Given the description of an element on the screen output the (x, y) to click on. 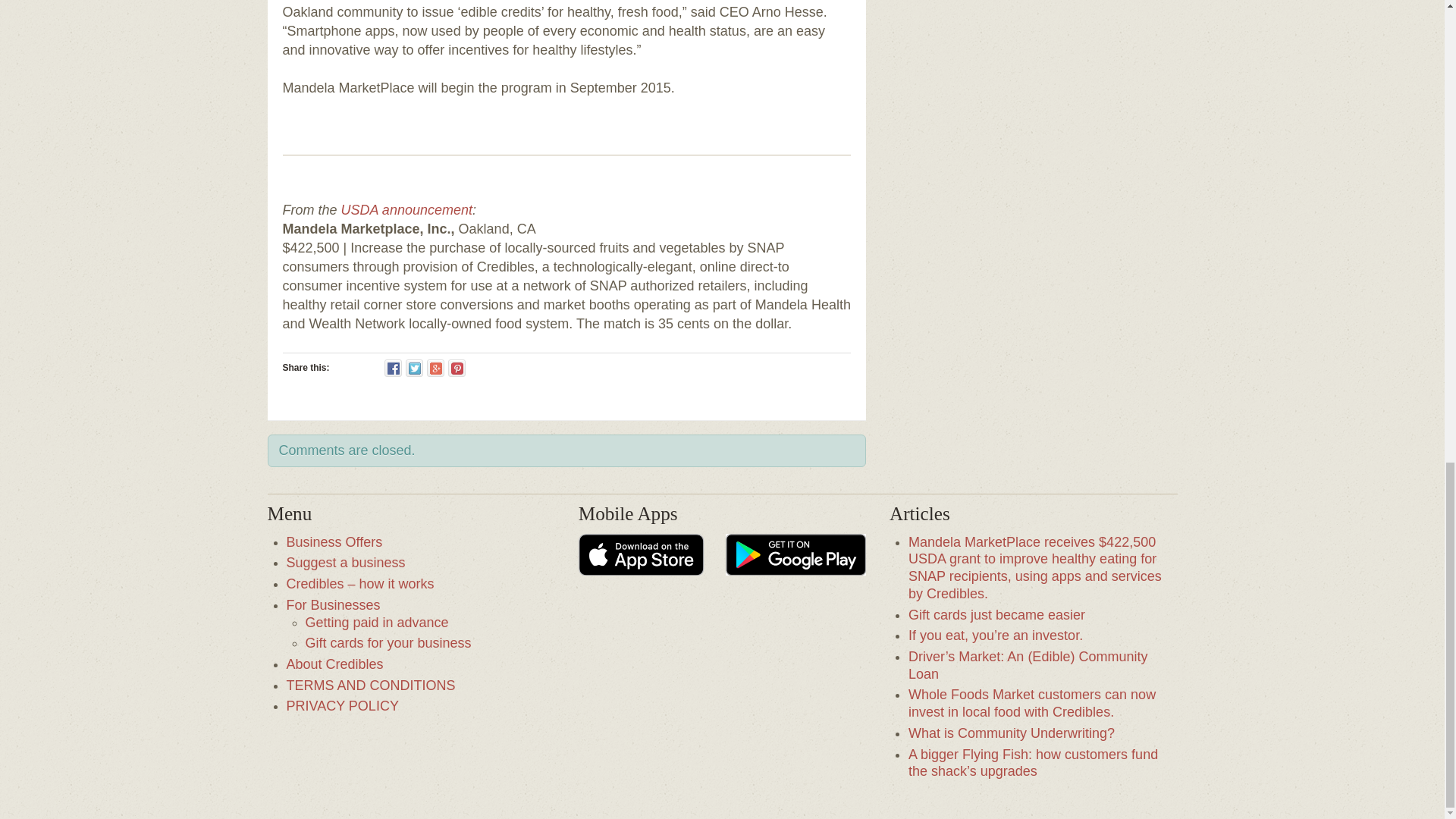
USDA announcement (405, 209)
Share on Facebook (392, 367)
Click to share on Twitter (414, 367)
Click to share on Pinterest (456, 367)
